Given the description of an element on the screen output the (x, y) to click on. 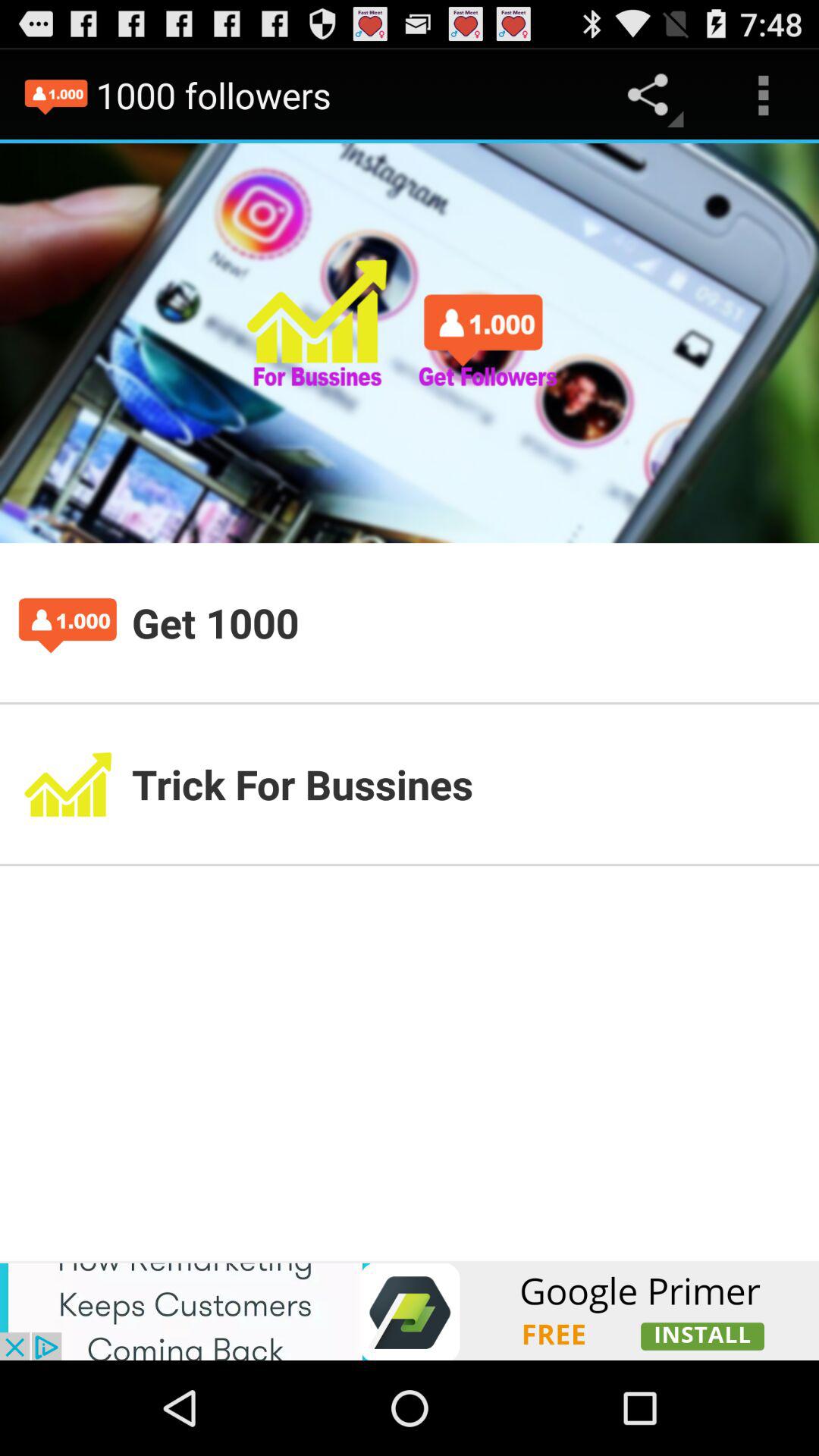
go to advertisement (409, 1310)
